Given the description of an element on the screen output the (x, y) to click on. 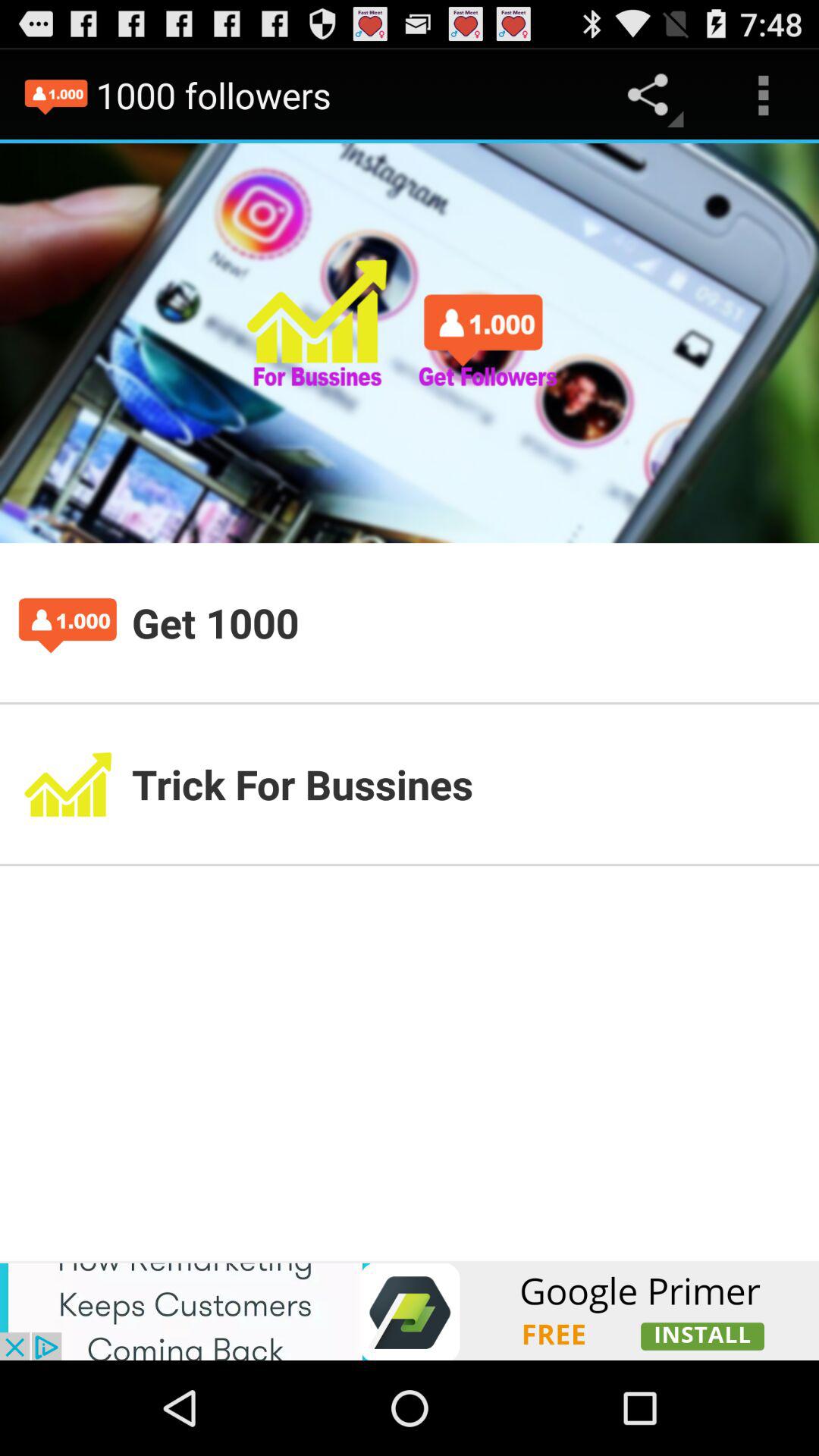
go to advertisement (409, 1310)
